Given the description of an element on the screen output the (x, y) to click on. 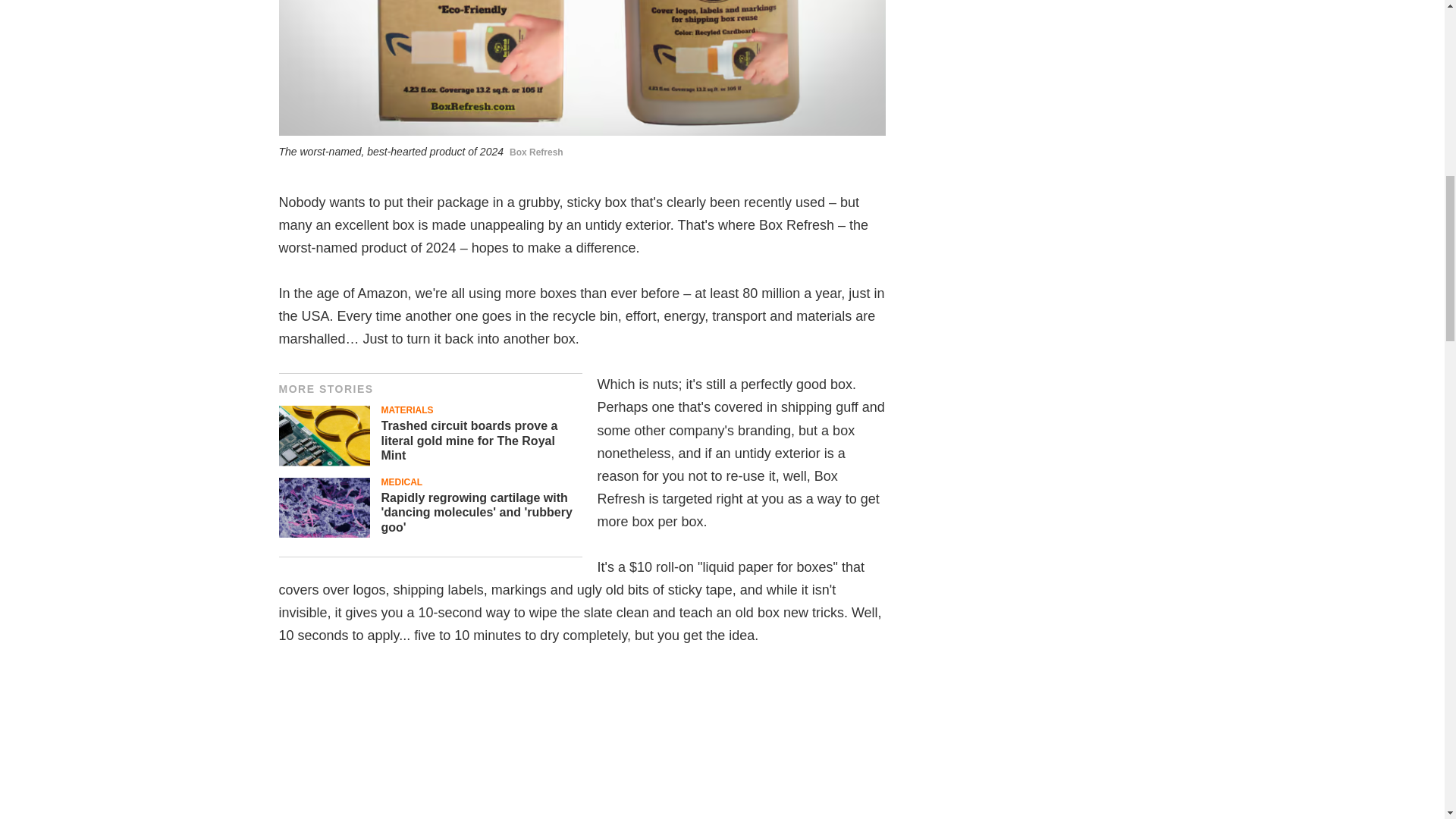
YouTube embedded video player (582, 744)
